Given the description of an element on the screen output the (x, y) to click on. 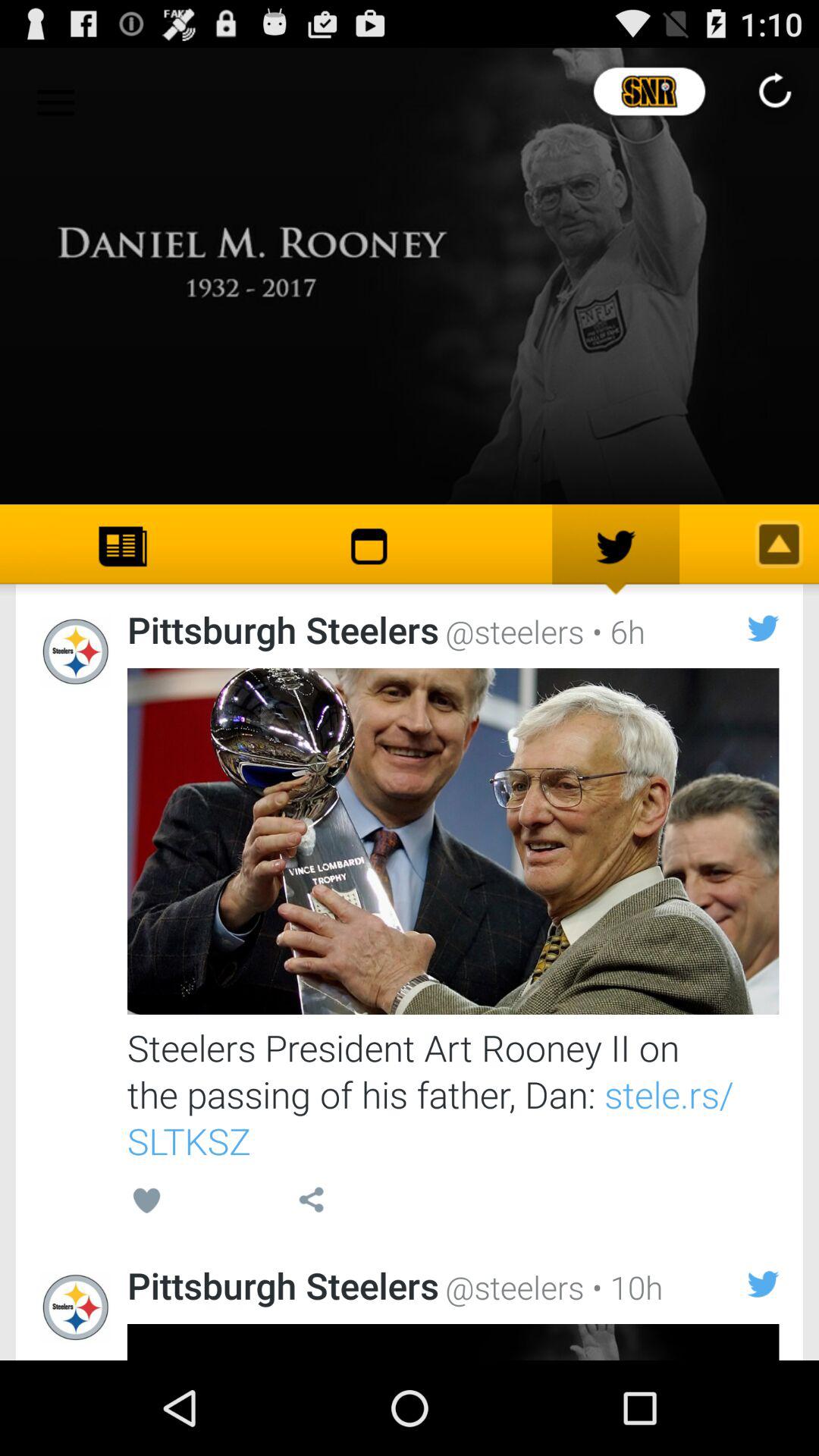
tap item below the steelers president art icon (623, 1286)
